Given the description of an element on the screen output the (x, y) to click on. 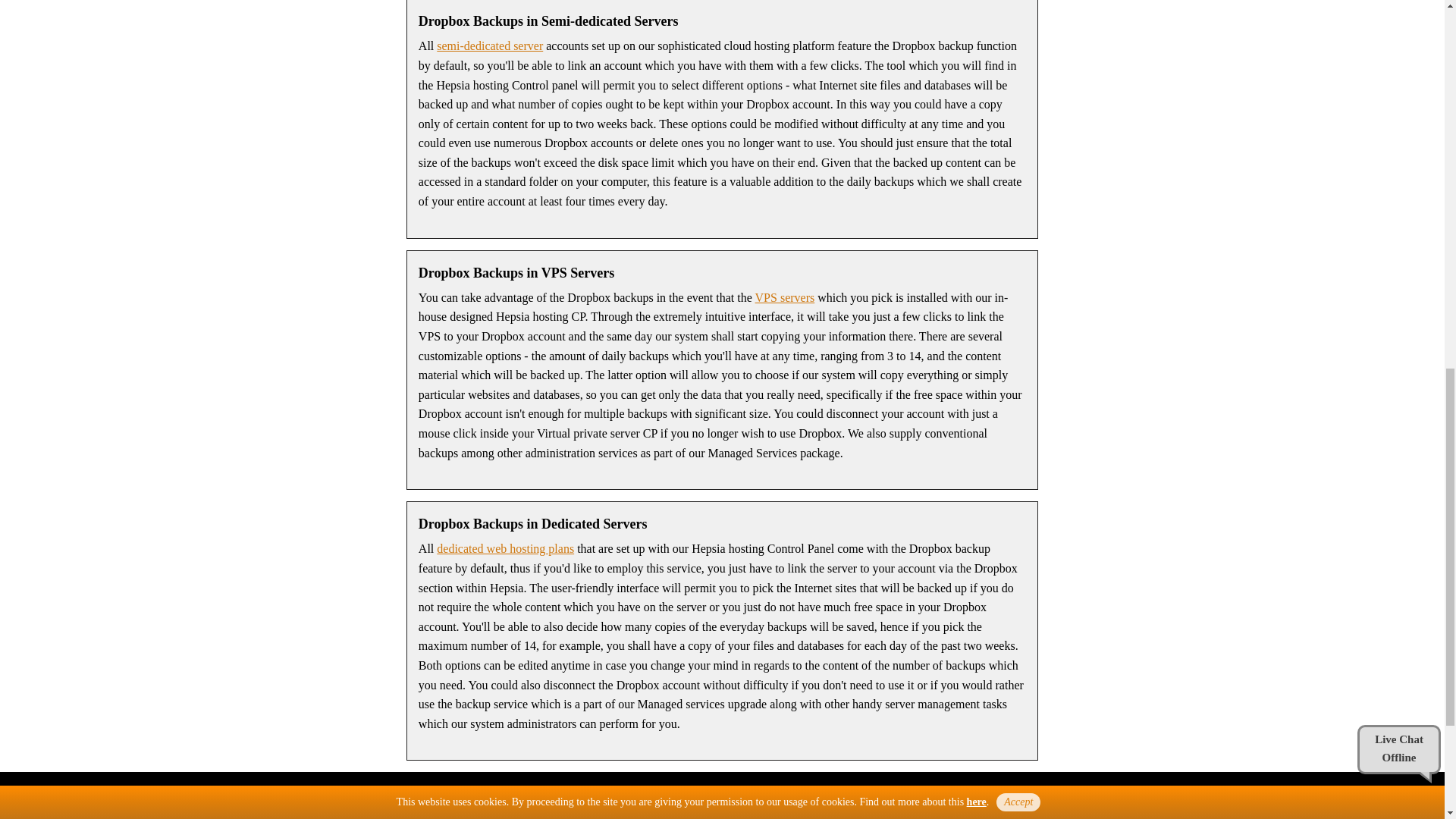
Linux semi-dedicated hosting plans (489, 45)
VPS servers (785, 297)
dedicated web hosting plans (504, 548)
